Given the description of an element on the screen output the (x, y) to click on. 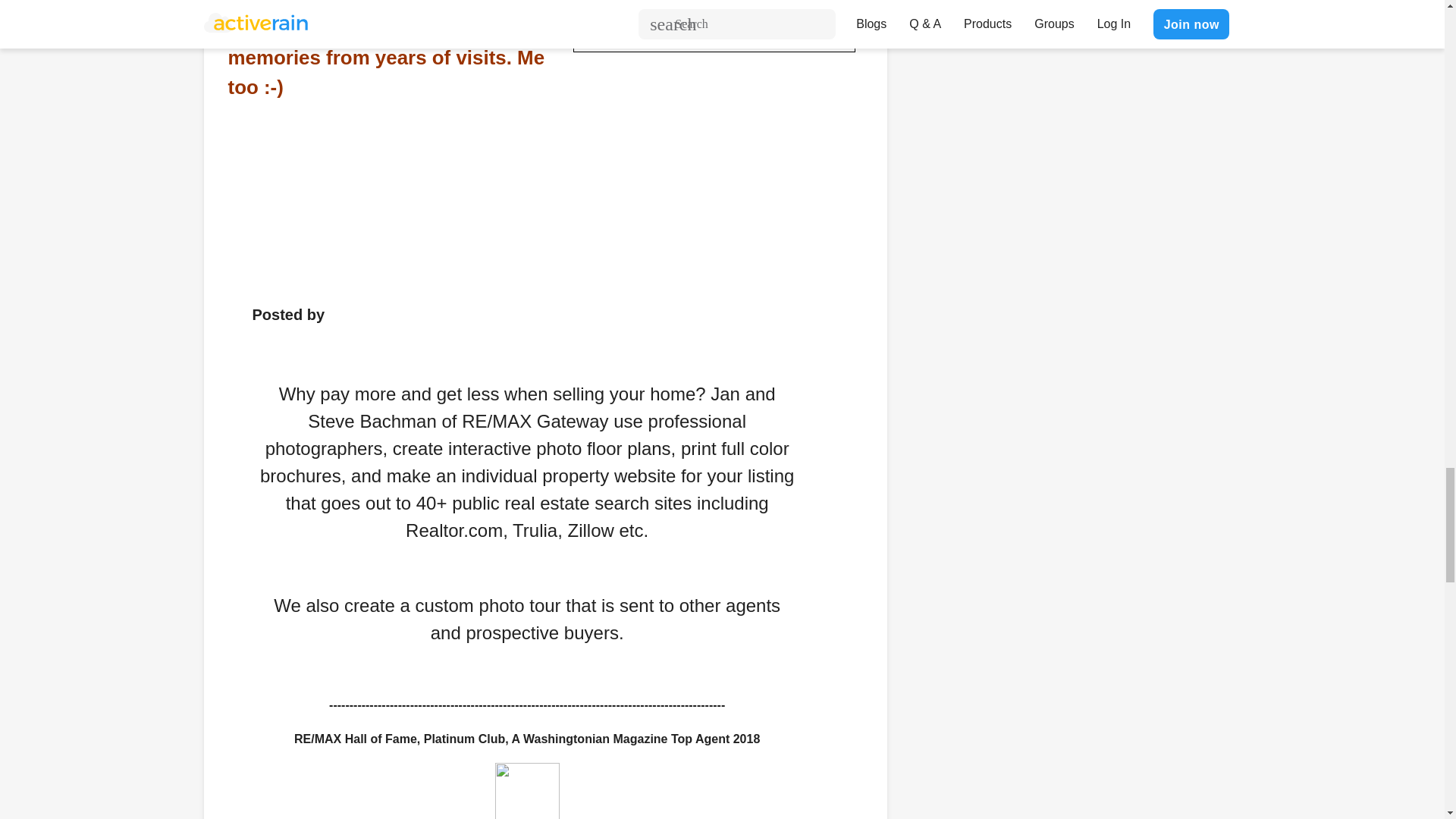
Kidwell Farm at Frying Pan Park Herndon VA (714, 26)
